Given the description of an element on the screen output the (x, y) to click on. 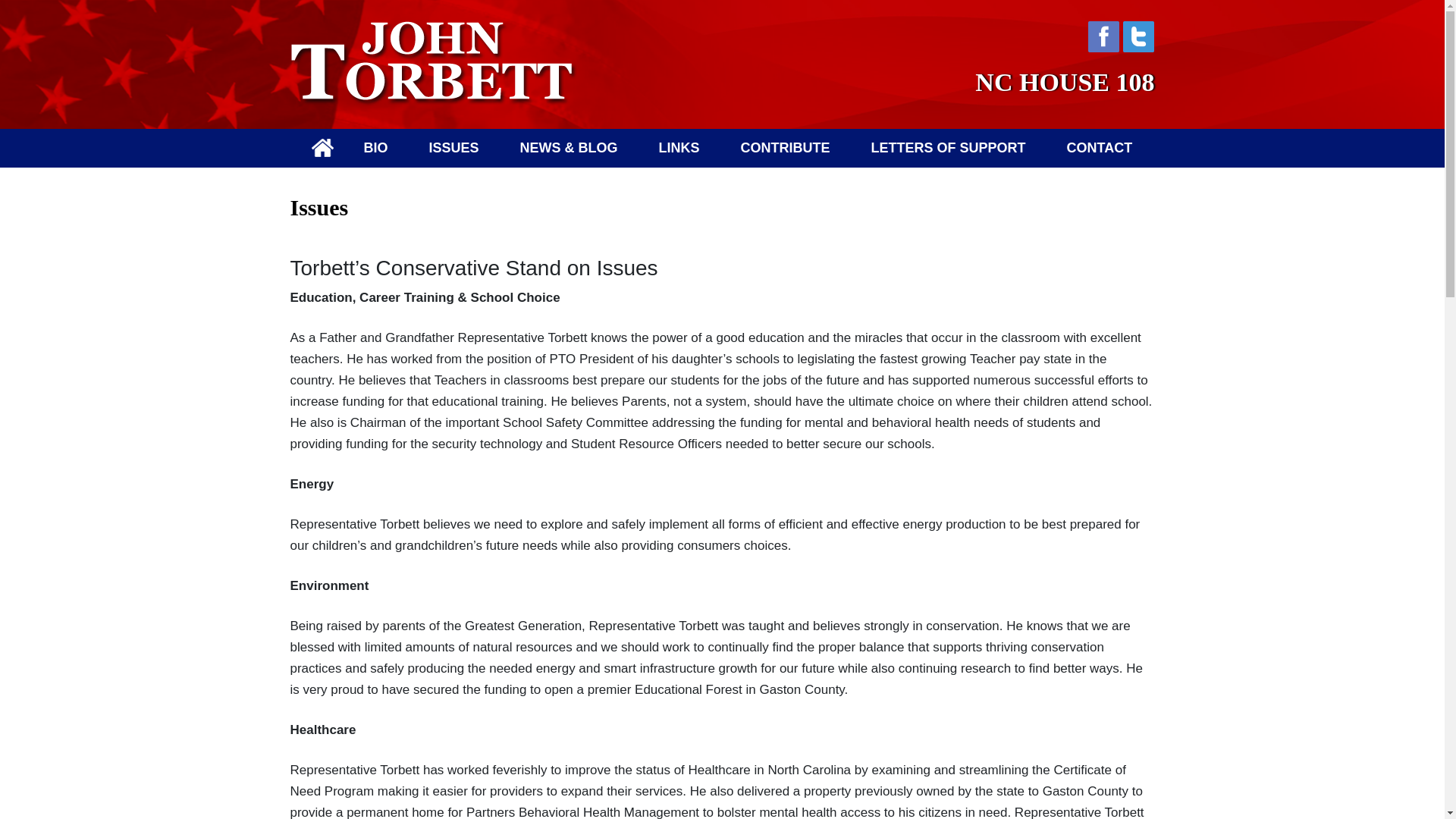
LINKS (679, 147)
CONTACT (1099, 147)
HOME (321, 147)
BIO (374, 147)
LETTERS OF SUPPORT (948, 147)
ISSUES (454, 147)
CONTRIBUTE (785, 147)
